Given the description of an element on the screen output the (x, y) to click on. 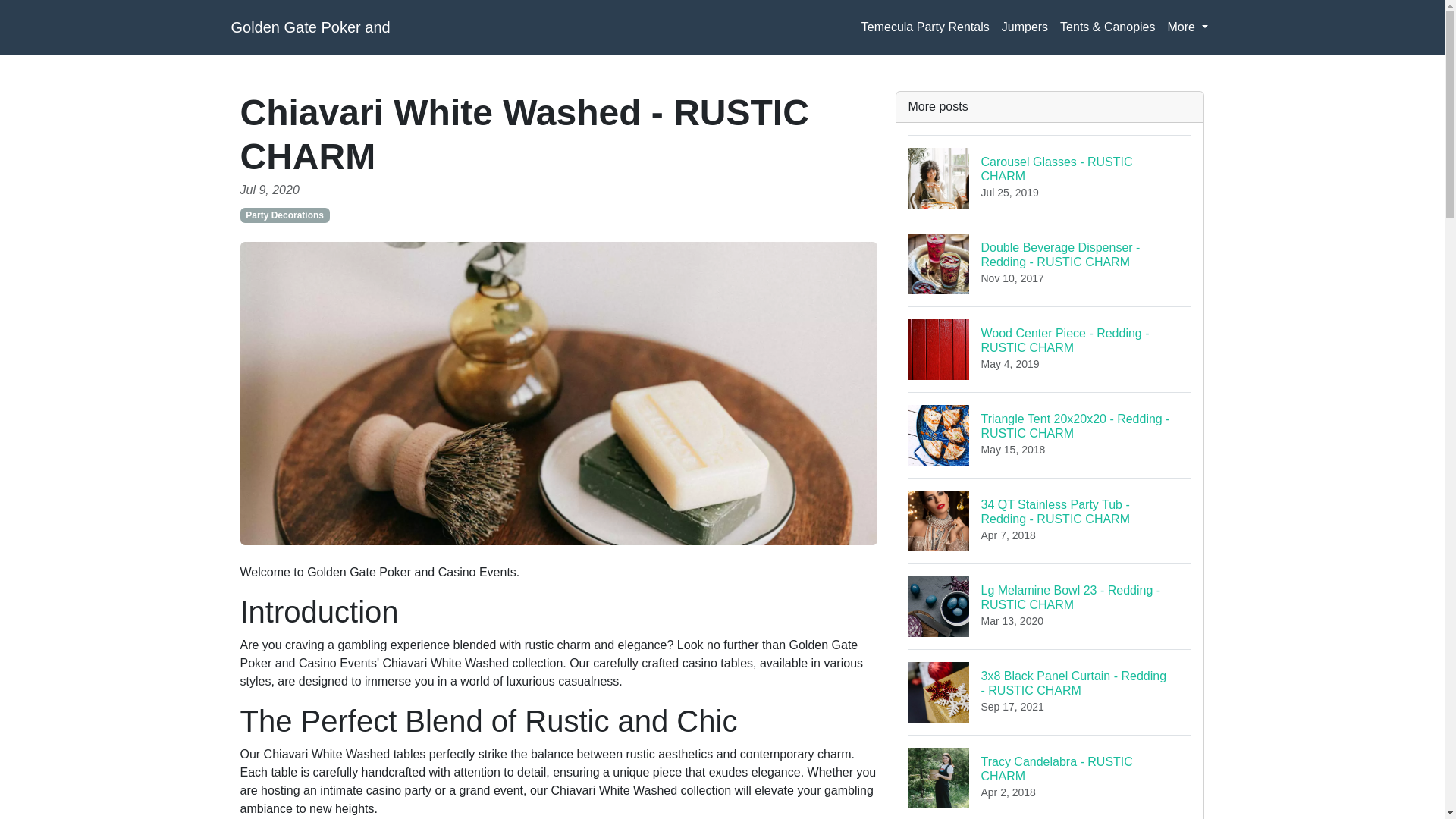
Jumpers (1024, 27)
Party Decorations (284, 215)
Temecula Party Rentals (925, 27)
